Given the description of an element on the screen output the (x, y) to click on. 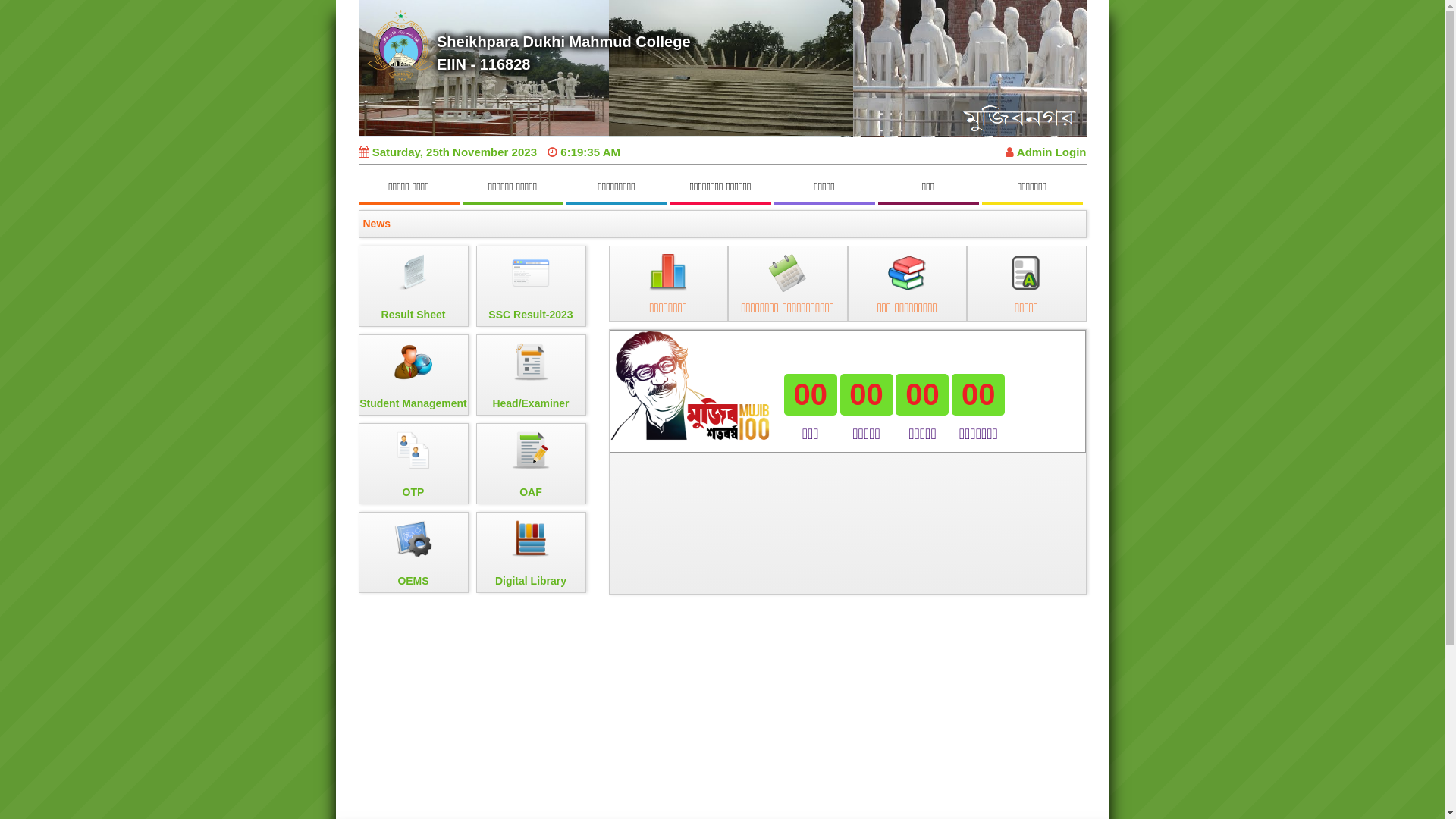
OTP Element type: text (412, 463)
Digital Library Element type: text (531, 552)
Student Management Element type: text (412, 374)
SSC Result-2023 Element type: text (531, 285)
Head/Examiner Element type: text (531, 374)
Result Sheet Element type: text (412, 285)
OAF Element type: text (531, 463)
Admin Login Element type: text (1045, 151)
OEMS Element type: text (412, 552)
